Given the description of an element on the screen output the (x, y) to click on. 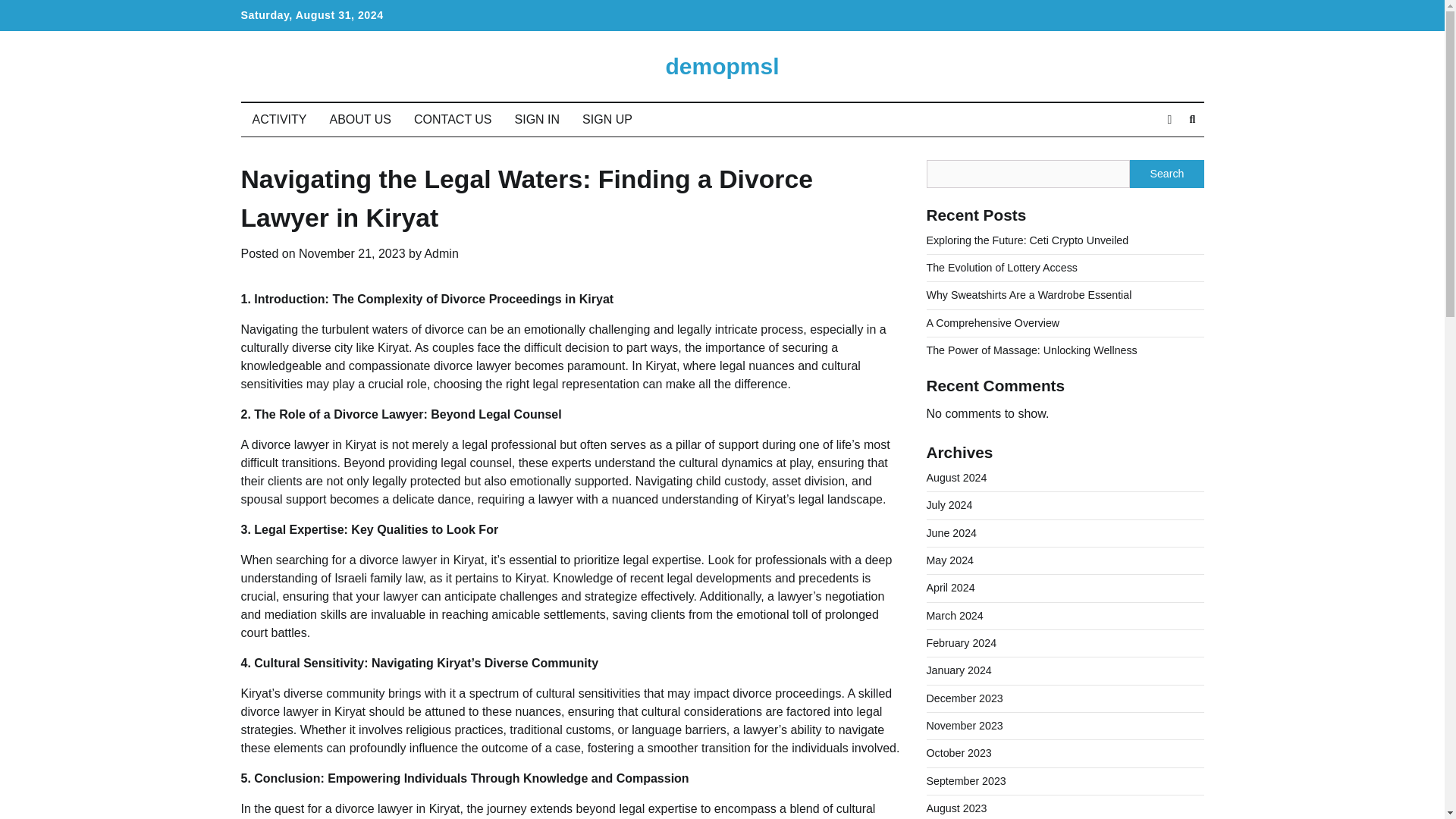
ABOUT US (360, 119)
April 2024 (950, 587)
Search (1164, 154)
View Random Post (1169, 119)
July 2024 (949, 504)
The Evolution of Lottery Access (1001, 267)
SIGN UP (606, 119)
Exploring the Future: Ceti Crypto Unveiled (1027, 240)
Why Sweatshirts Are a Wardrobe Essential (1029, 295)
Search (1166, 173)
